Given the description of an element on the screen output the (x, y) to click on. 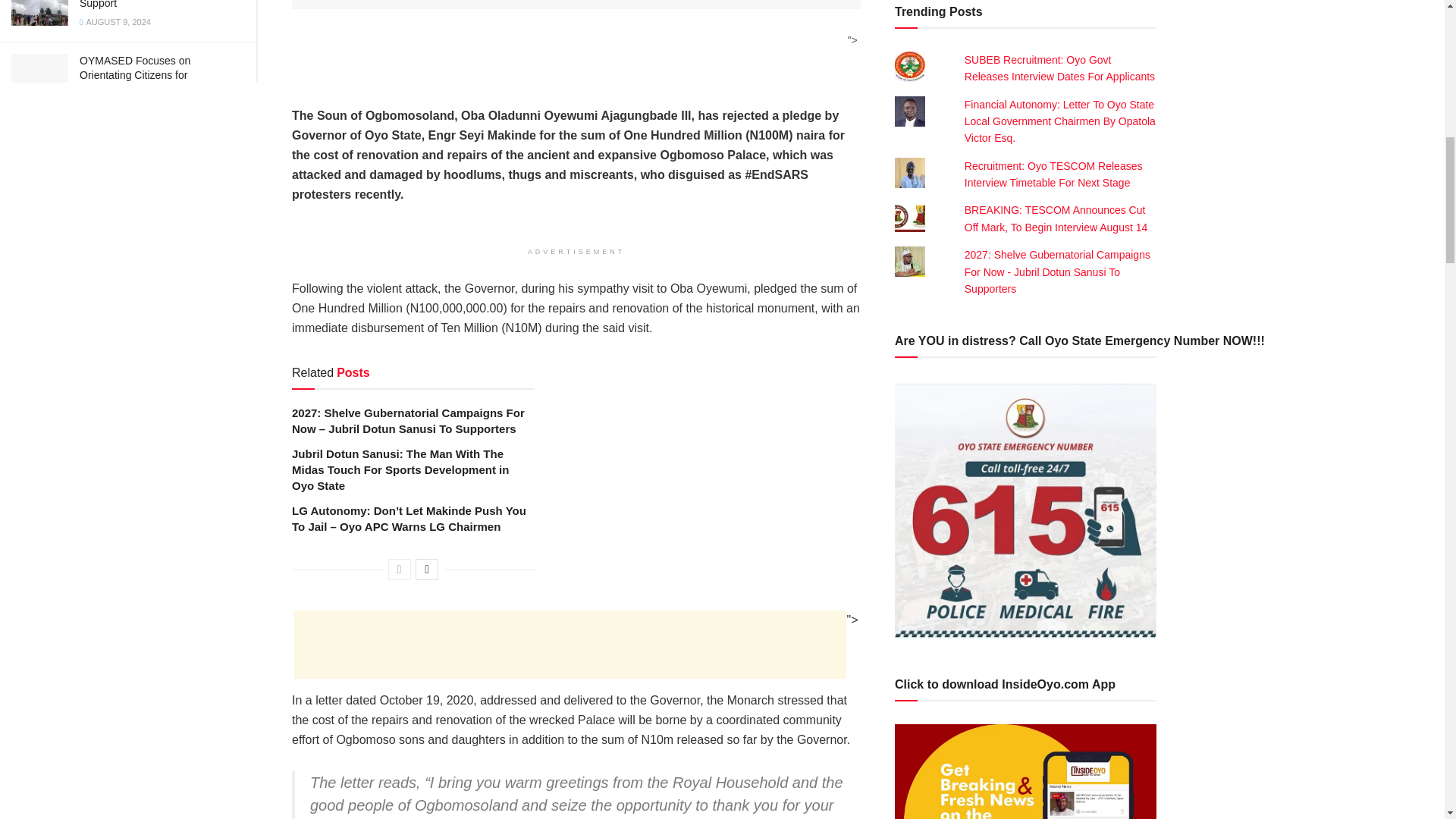
Next (426, 568)
Previous (399, 568)
